Given the description of an element on the screen output the (x, y) to click on. 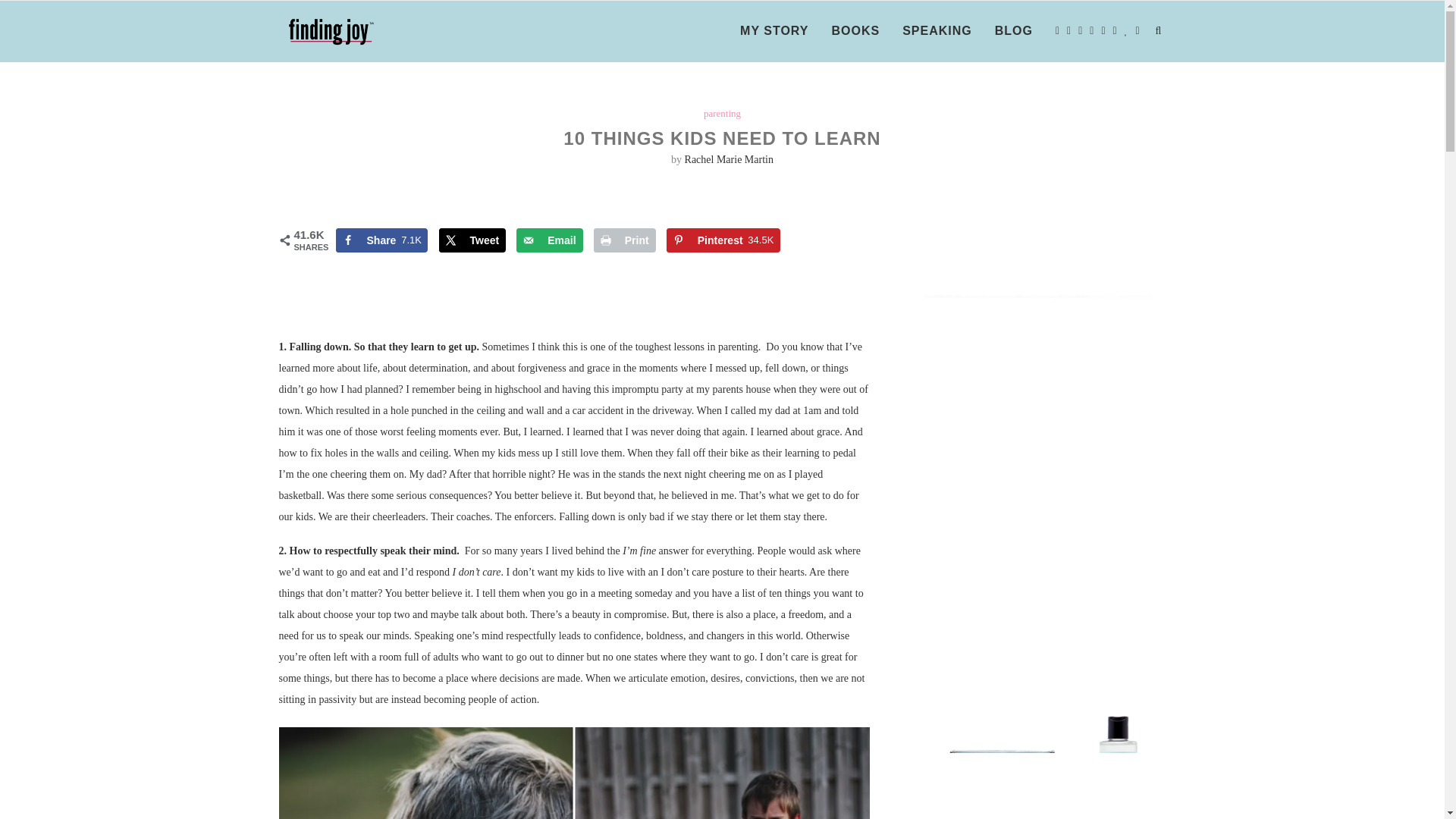
parenting (722, 113)
Email (549, 240)
Send over email (549, 240)
Share on X (472, 240)
Tweet (381, 240)
Print (472, 240)
Print this webpage (625, 240)
SPEAKING (625, 240)
Save to Pinterest (937, 30)
